Given the description of an element on the screen output the (x, y) to click on. 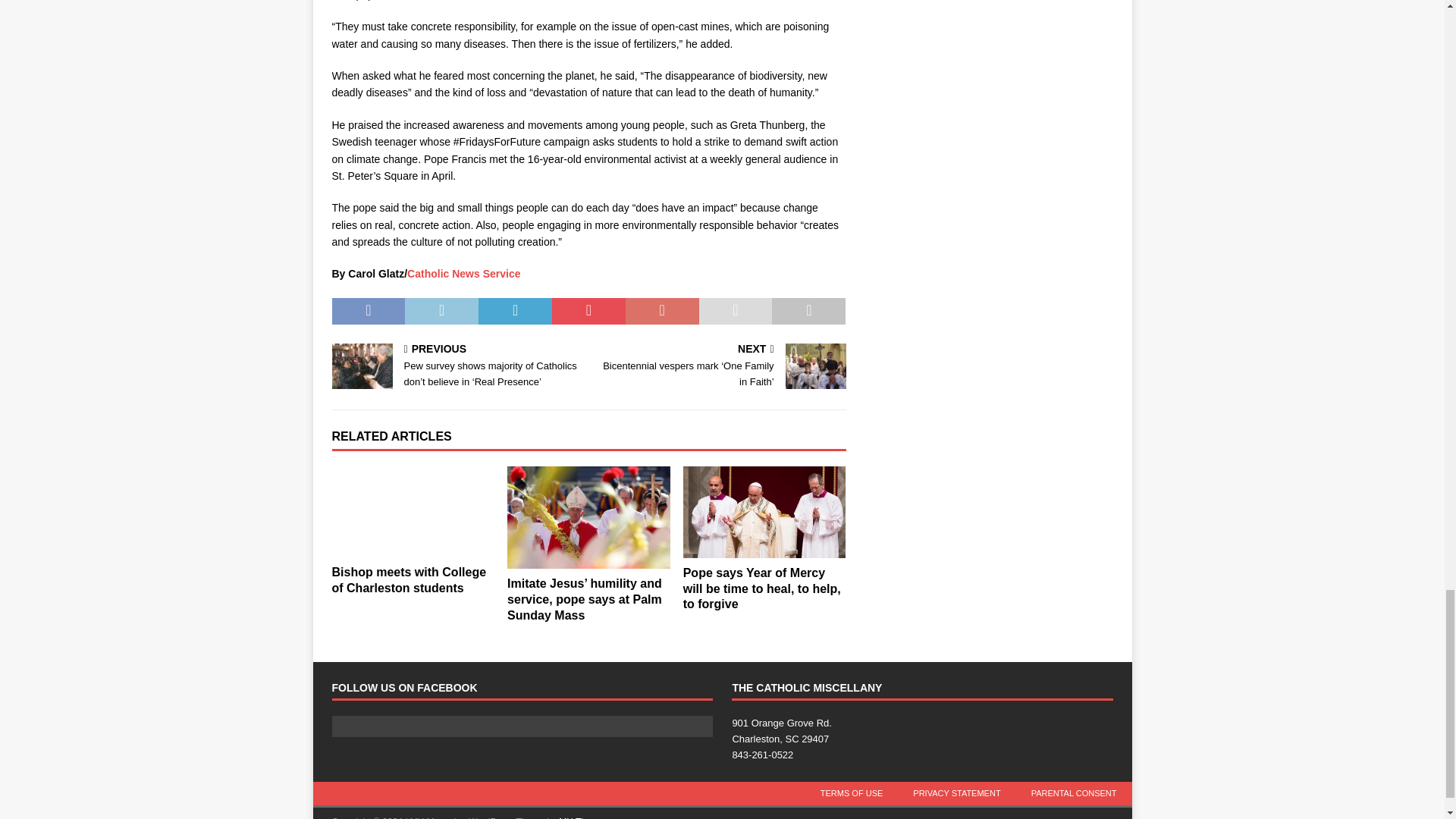
Catholic News Service (463, 273)
